Given the description of an element on the screen output the (x, y) to click on. 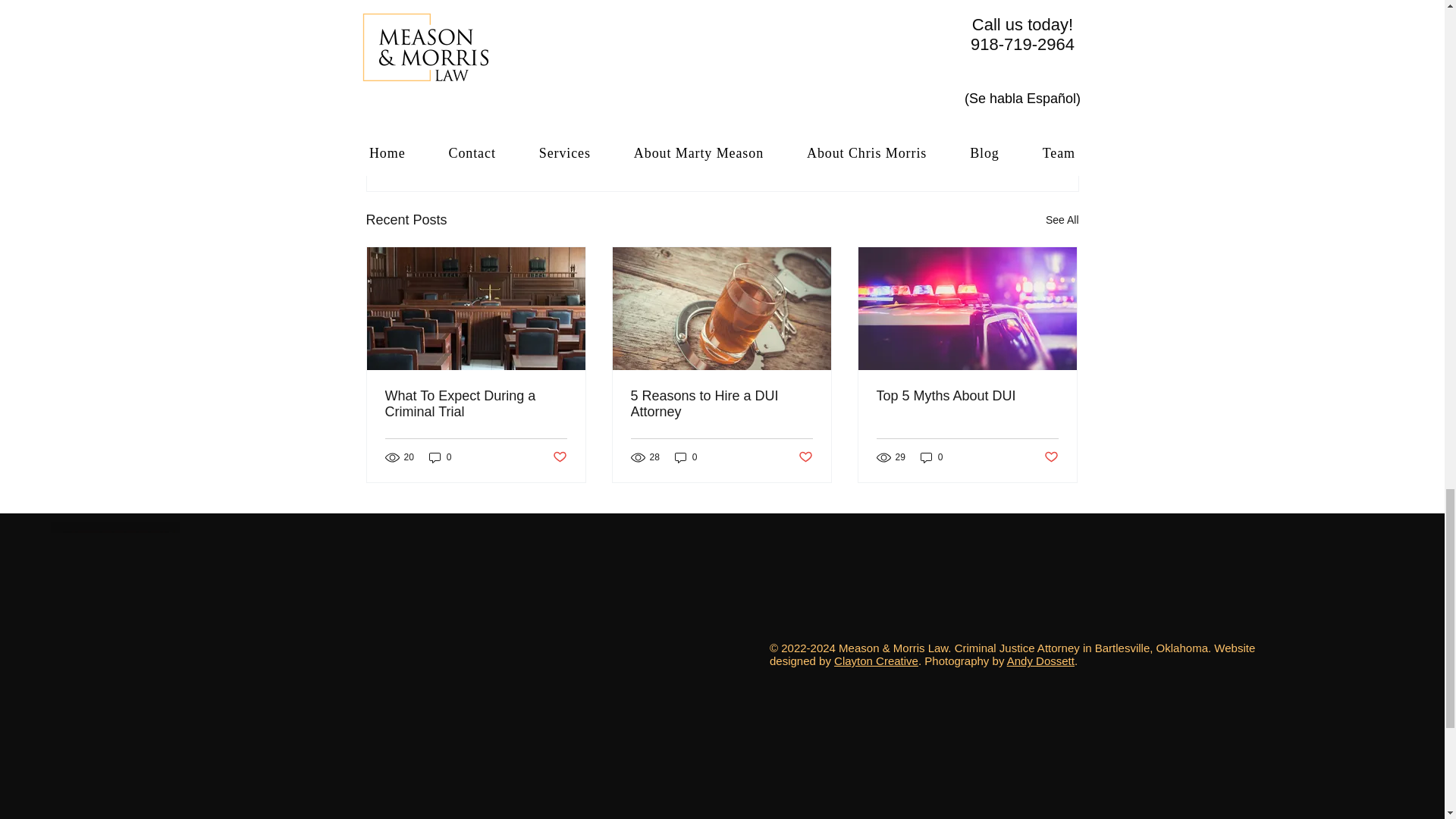
What To Expect During a Criminal Trial (476, 404)
Post not marked as liked (558, 457)
DUI (841, 92)
0 (440, 457)
Post not marked as liked (995, 137)
Attorney (982, 92)
See All (1061, 219)
Legal Assistance (907, 92)
